Given the description of an element on the screen output the (x, y) to click on. 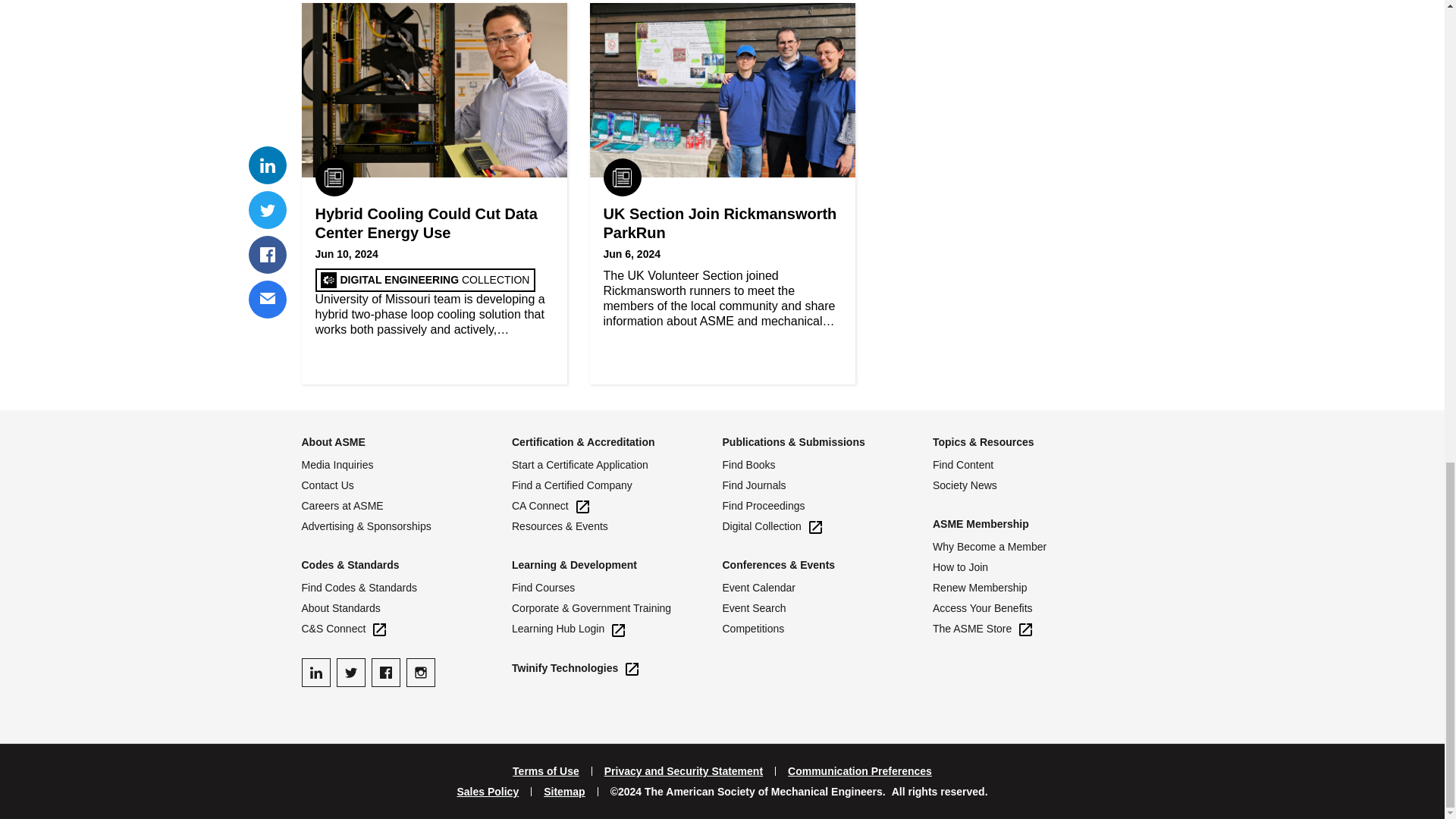
ASME on Instagram (420, 672)
ASME on LinkedIn (315, 672)
ASME on Facebook (385, 672)
Media Inquiries (406, 464)
About ASME (333, 441)
ASME on Twitter (350, 672)
